Given the description of an element on the screen output the (x, y) to click on. 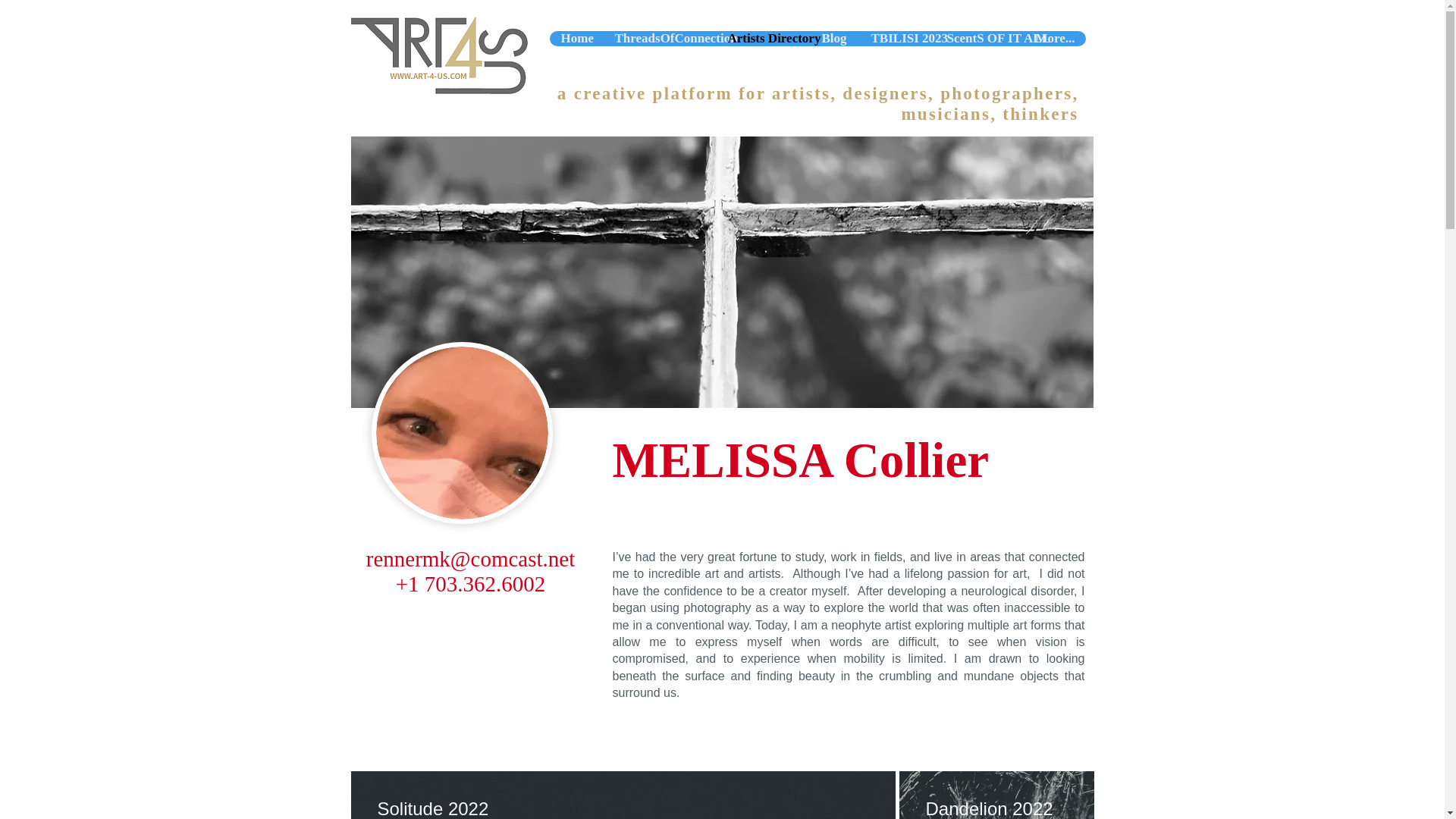
ThreadsOfConnection (658, 38)
Artists Directory (762, 38)
Home (575, 38)
